Given the description of an element on the screen output the (x, y) to click on. 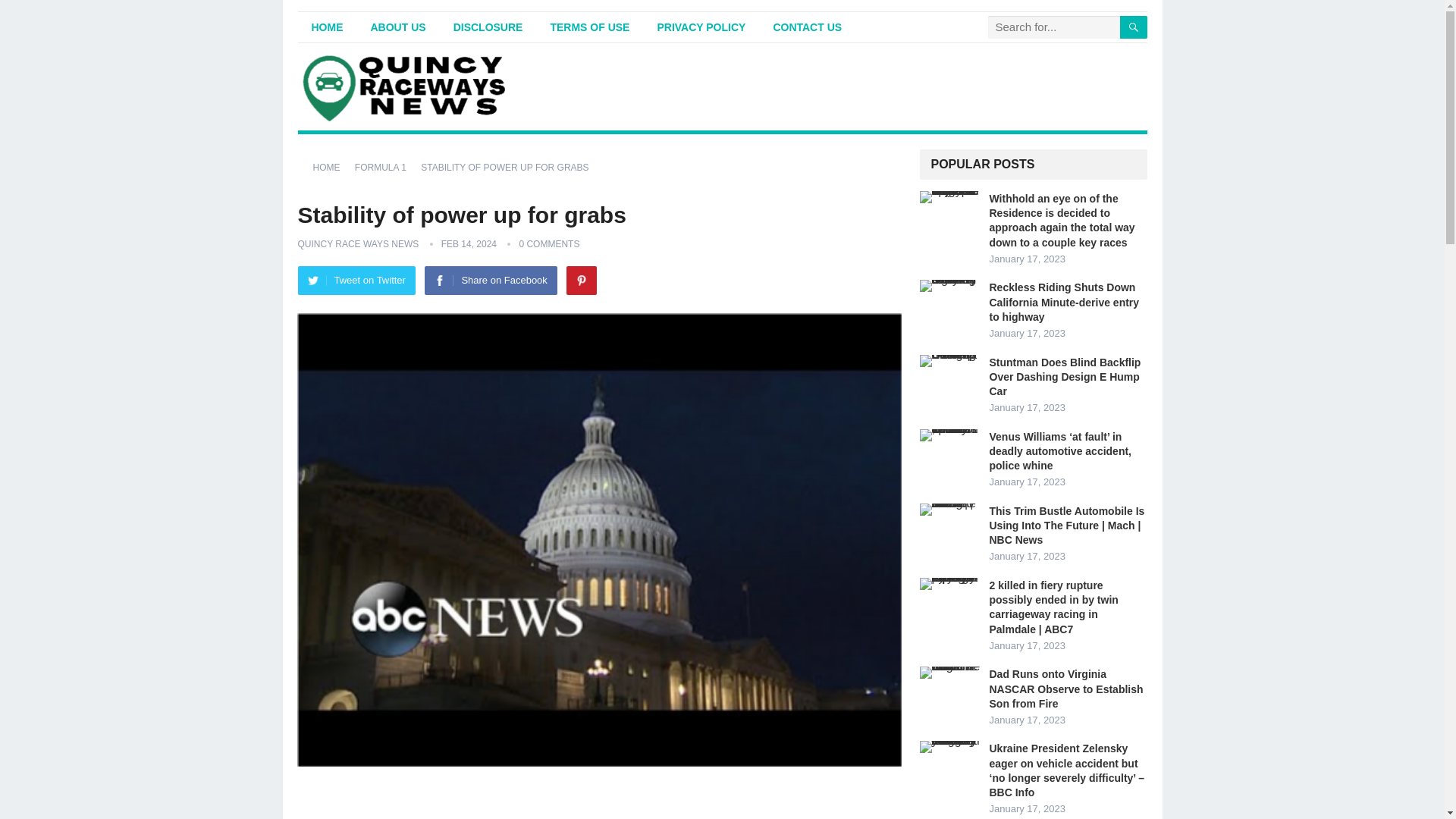
Share on Facebook (490, 280)
FORMULA 1 (385, 167)
DISCLOSURE (488, 27)
CONTACT US (807, 27)
View all posts in Formula 1 (385, 167)
TERMS OF USE (589, 27)
HOME (326, 27)
PRIVACY POLICY (700, 27)
0 COMMENTS (548, 244)
Pinterest (581, 280)
